Given the description of an element on the screen output the (x, y) to click on. 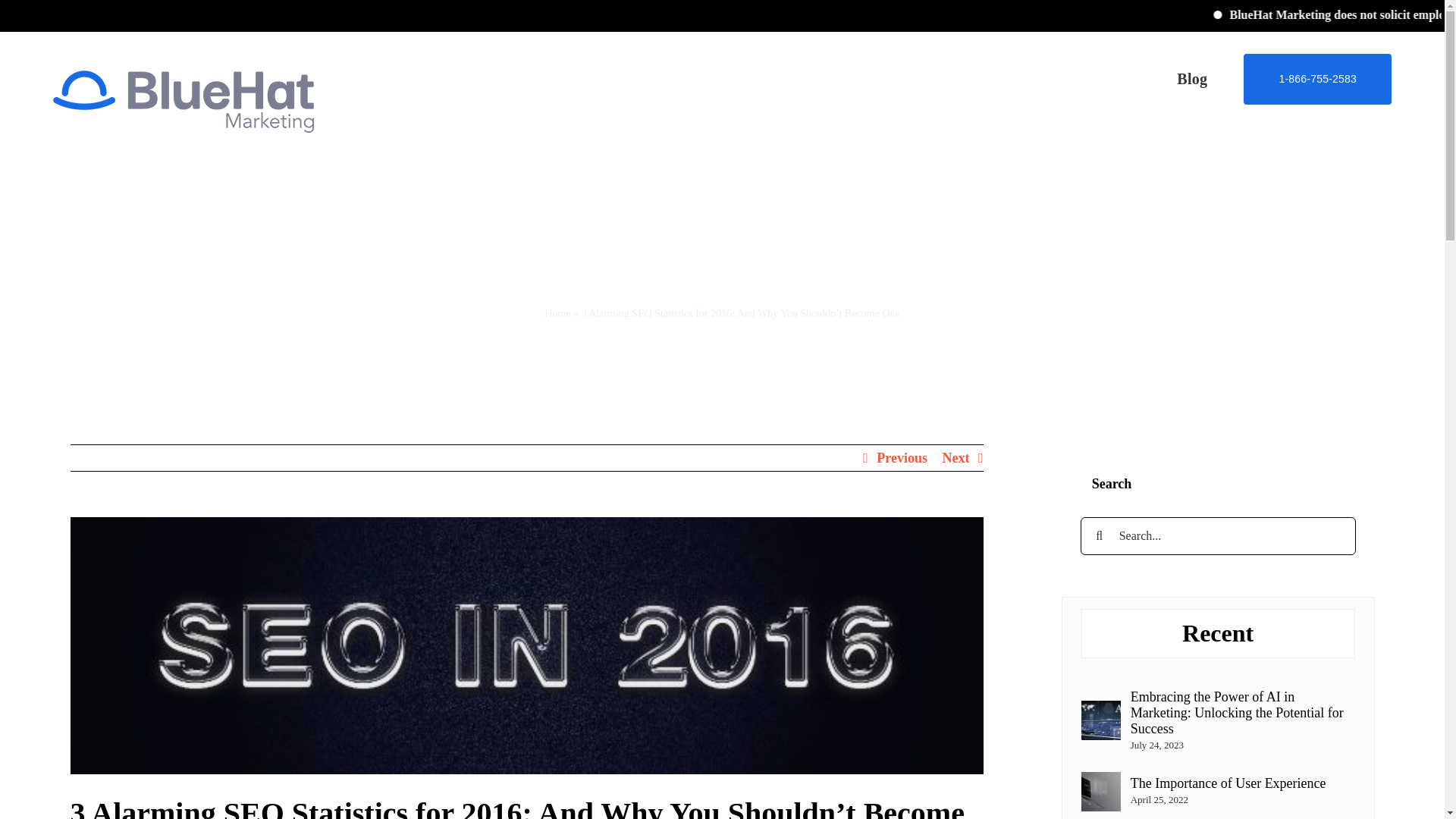
Next (955, 457)
Home (557, 313)
Previous (901, 457)
1-866-755-2583 (1317, 78)
